Given the description of an element on the screen output the (x, y) to click on. 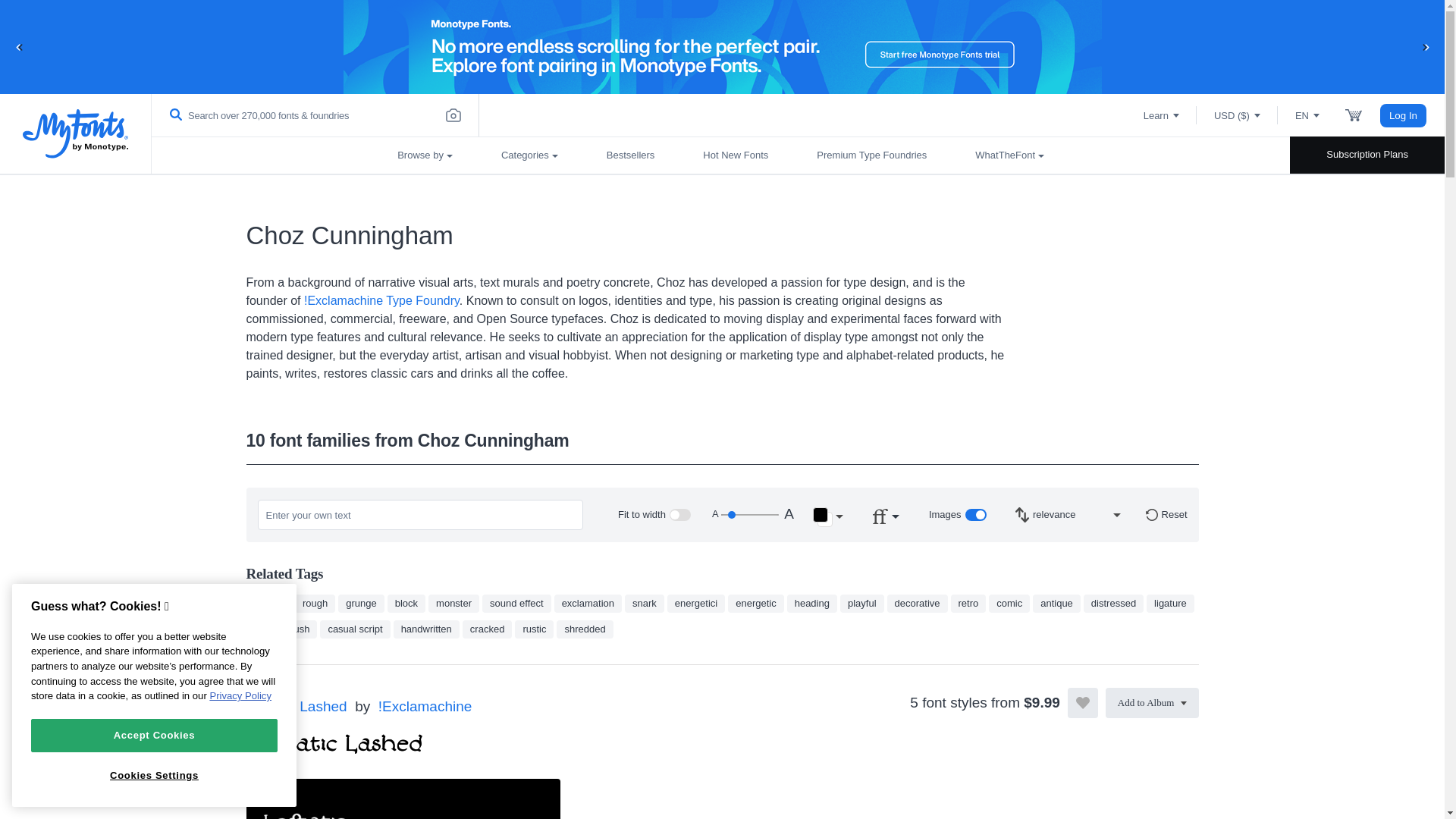
Log In (1403, 114)
Skip to content (72, 27)
MyFonts (75, 133)
